Given the description of an element on the screen output the (x, y) to click on. 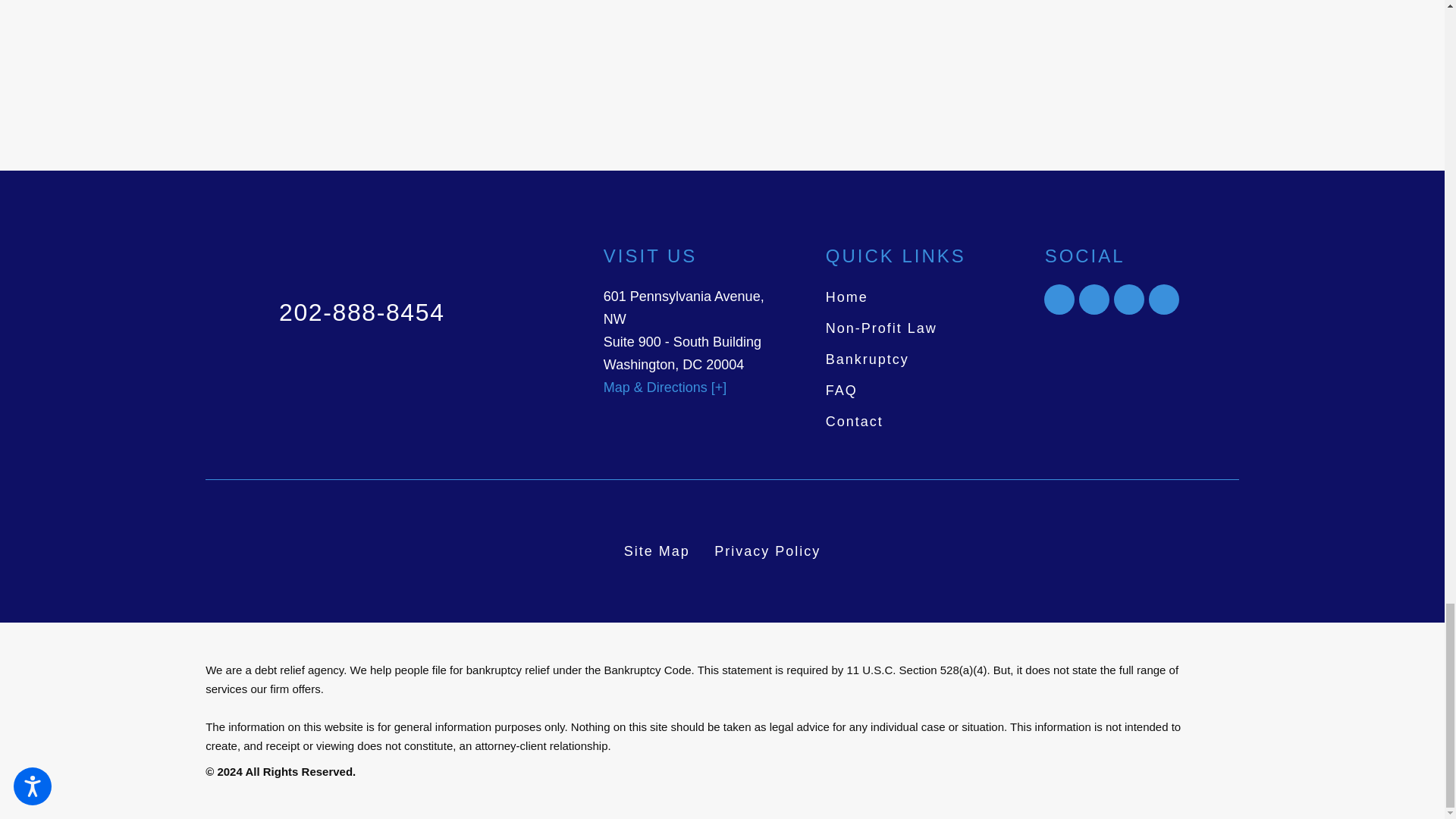
Facebook (1093, 299)
LinkedIn (1058, 299)
YouTube (1163, 299)
Twitter (1128, 299)
